Given the description of an element on the screen output the (x, y) to click on. 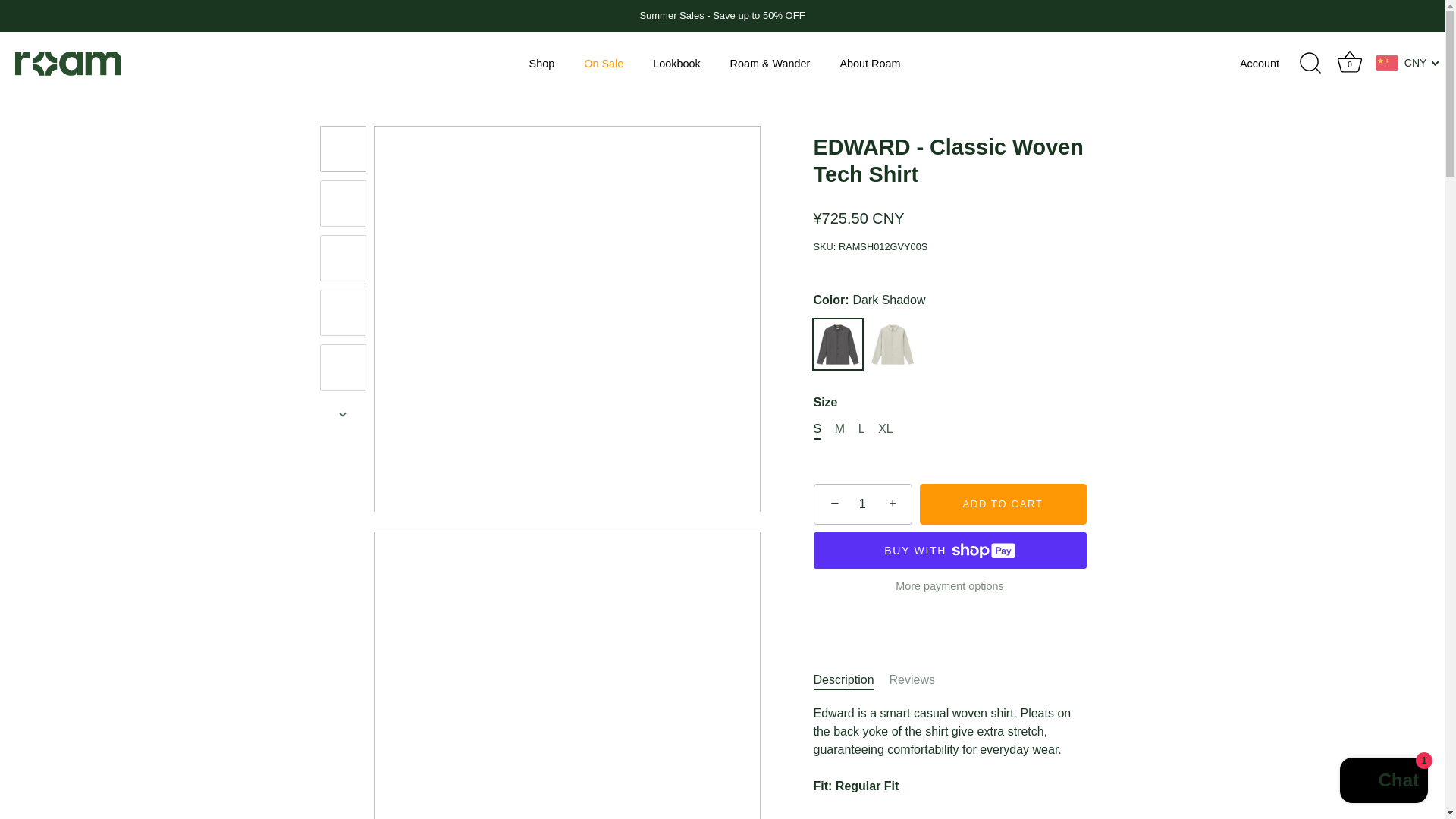
On Sale (1350, 63)
Skip to content (603, 63)
About Roam (1273, 63)
Shopify online store chat (870, 63)
Lookbook (1383, 781)
Shop (676, 63)
1 (541, 63)
Basket (862, 504)
